Given the description of an element on the screen output the (x, y) to click on. 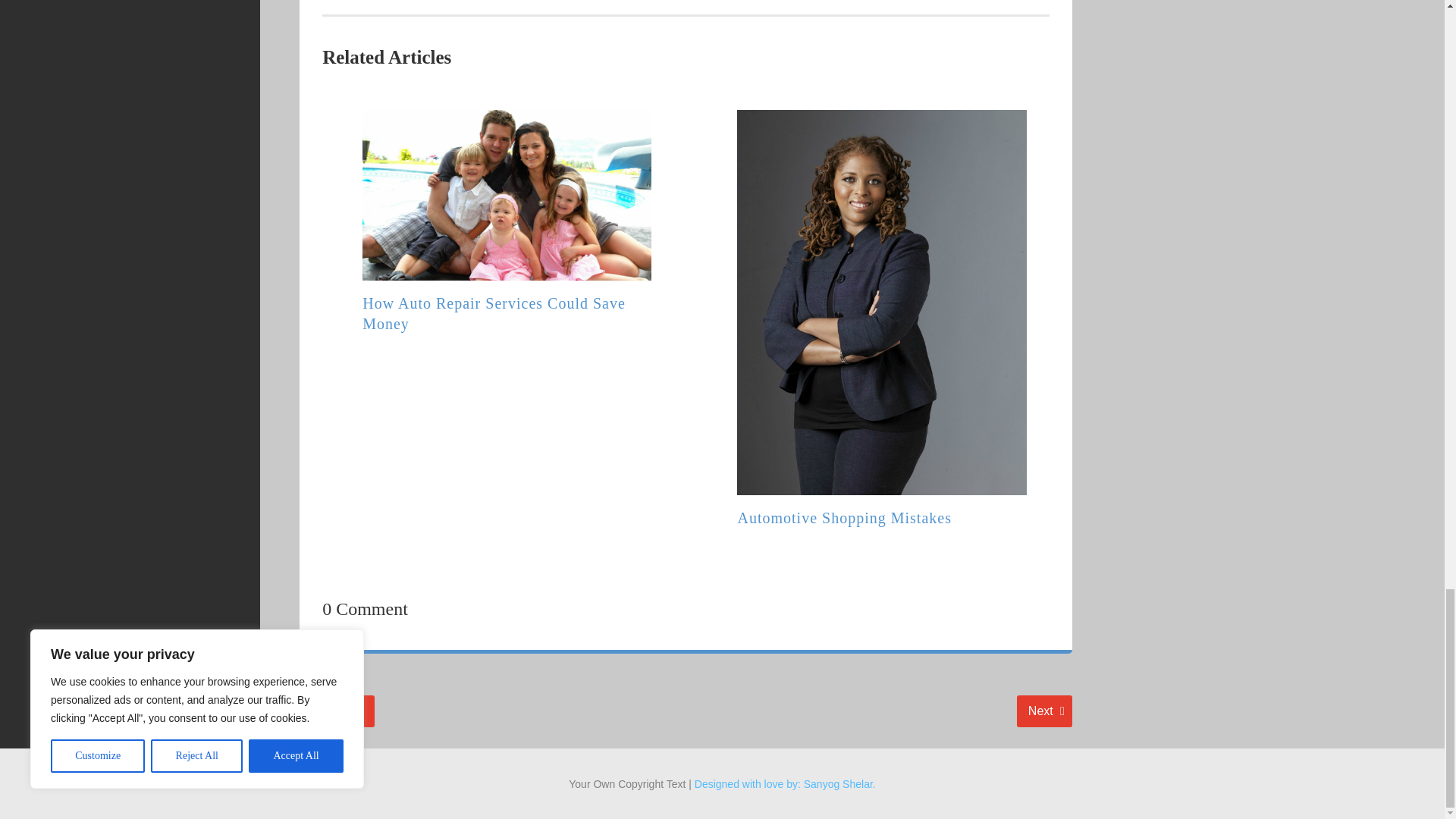
Automotive Shopping Mistakes (335, 711)
How Auto Repair Services Could Save Money (843, 517)
